Given the description of an element on the screen output the (x, y) to click on. 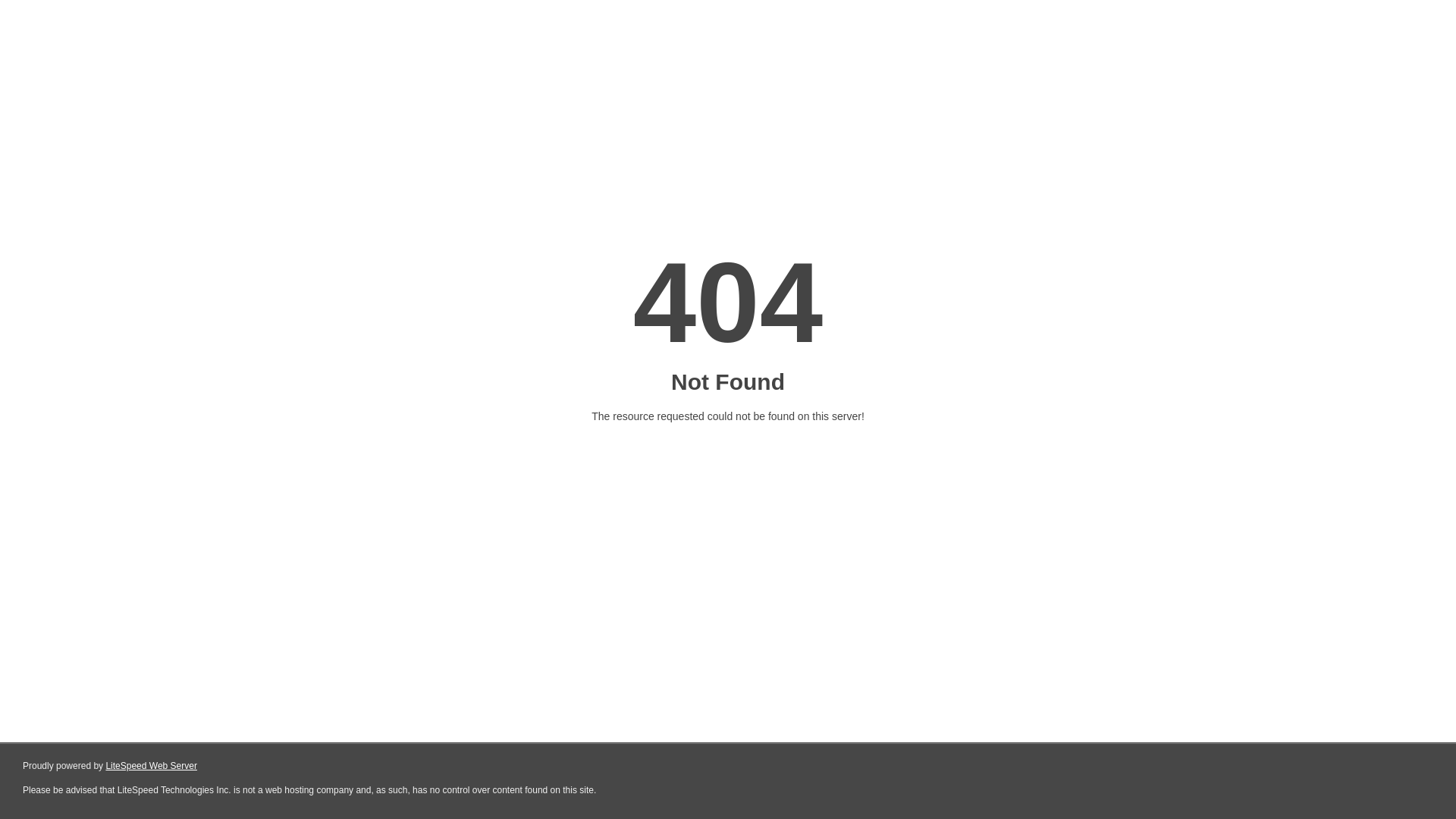
LiteSpeed Web Server Element type: text (151, 765)
